Given the description of an element on the screen output the (x, y) to click on. 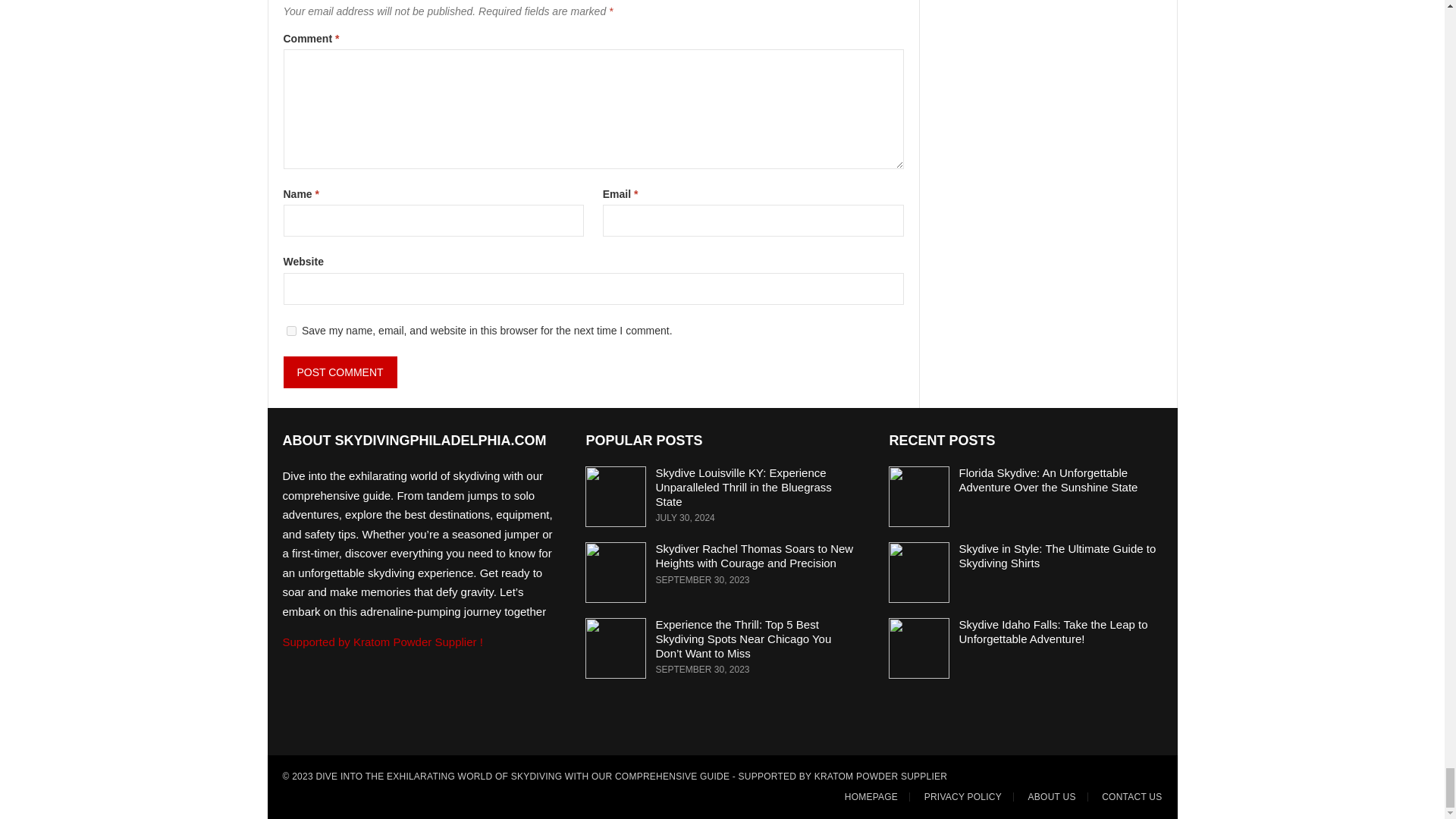
Post Comment (340, 372)
yes (291, 330)
